Given the description of an element on the screen output the (x, y) to click on. 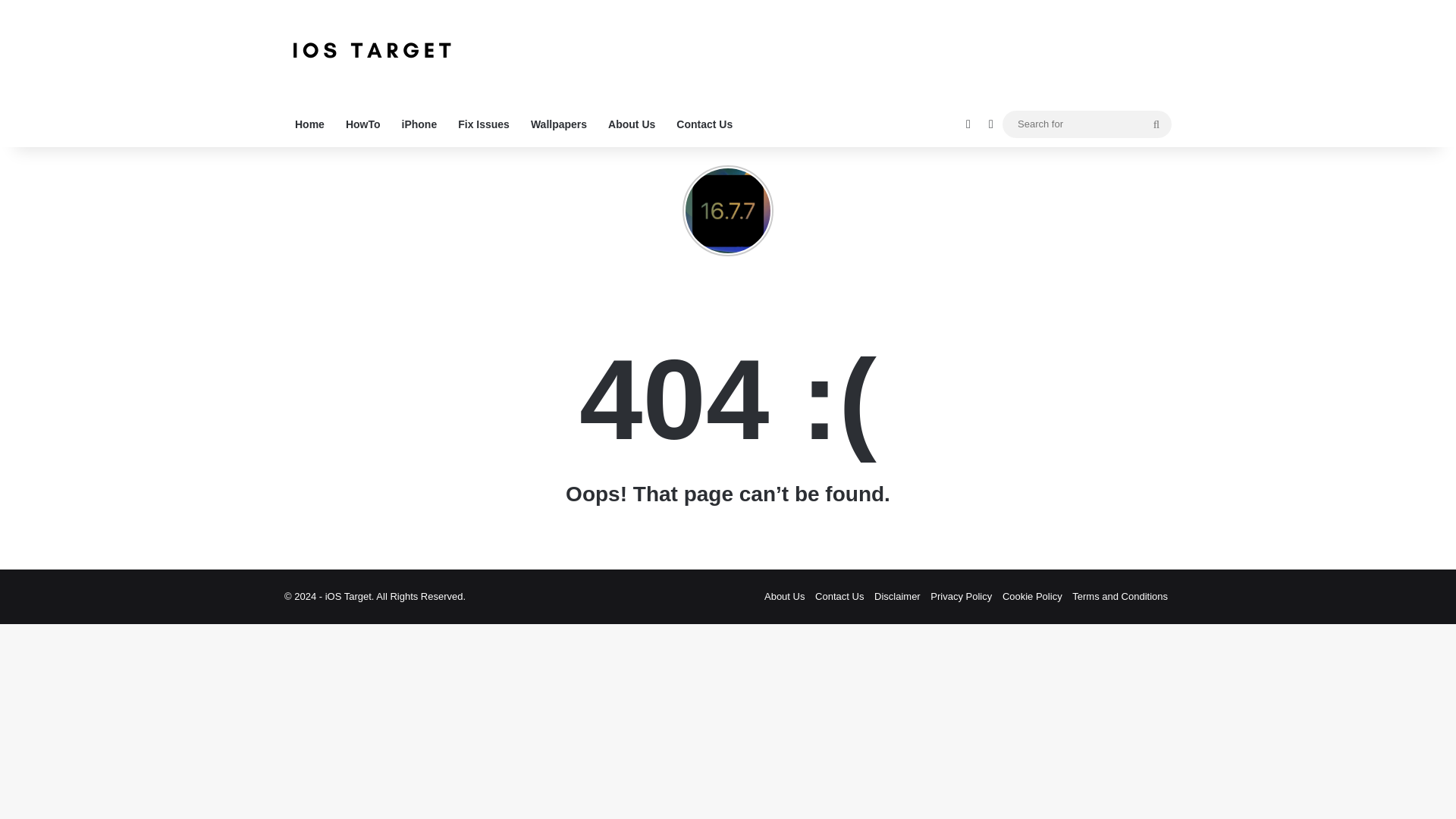
Privacy Policy (960, 595)
About Us (630, 124)
About Us (784, 595)
Search for (1087, 123)
Random Article (967, 124)
Terms and Conditions (1119, 595)
Contact Us (703, 124)
Wallpapers (557, 124)
Search for (1156, 124)
Random Article (967, 124)
Sidebar (991, 124)
Disclaimer (897, 595)
Cookie Policy (1032, 595)
Home (308, 124)
iOS Target (370, 50)
